Given the description of an element on the screen output the (x, y) to click on. 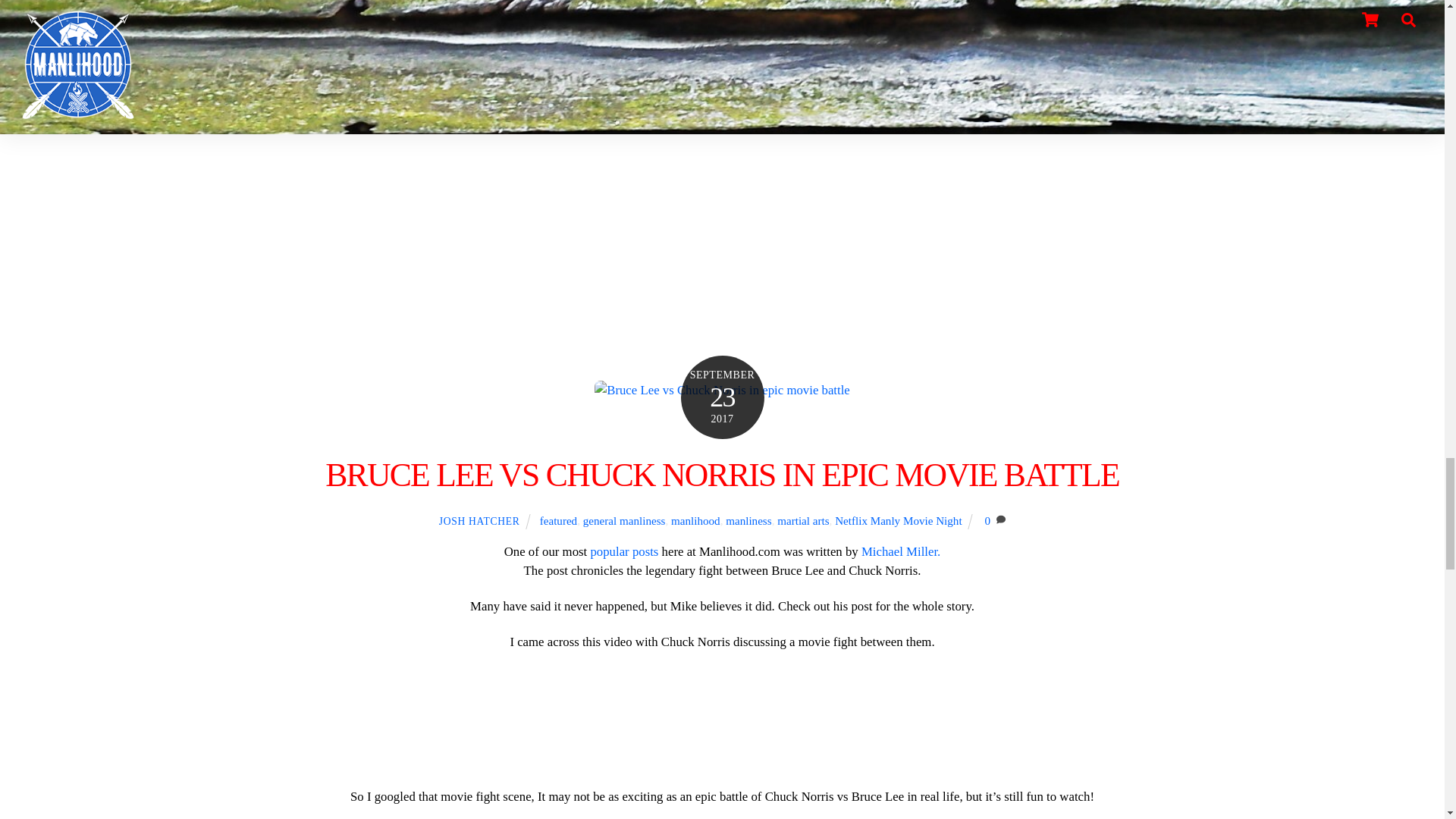
BRUCE LEE VS CHUCK NORRIS IN EPIC MOVIE BATTLE (721, 474)
Bruce Lee vs Chuck Norris in epic movie battle (722, 389)
